Given the description of an element on the screen output the (x, y) to click on. 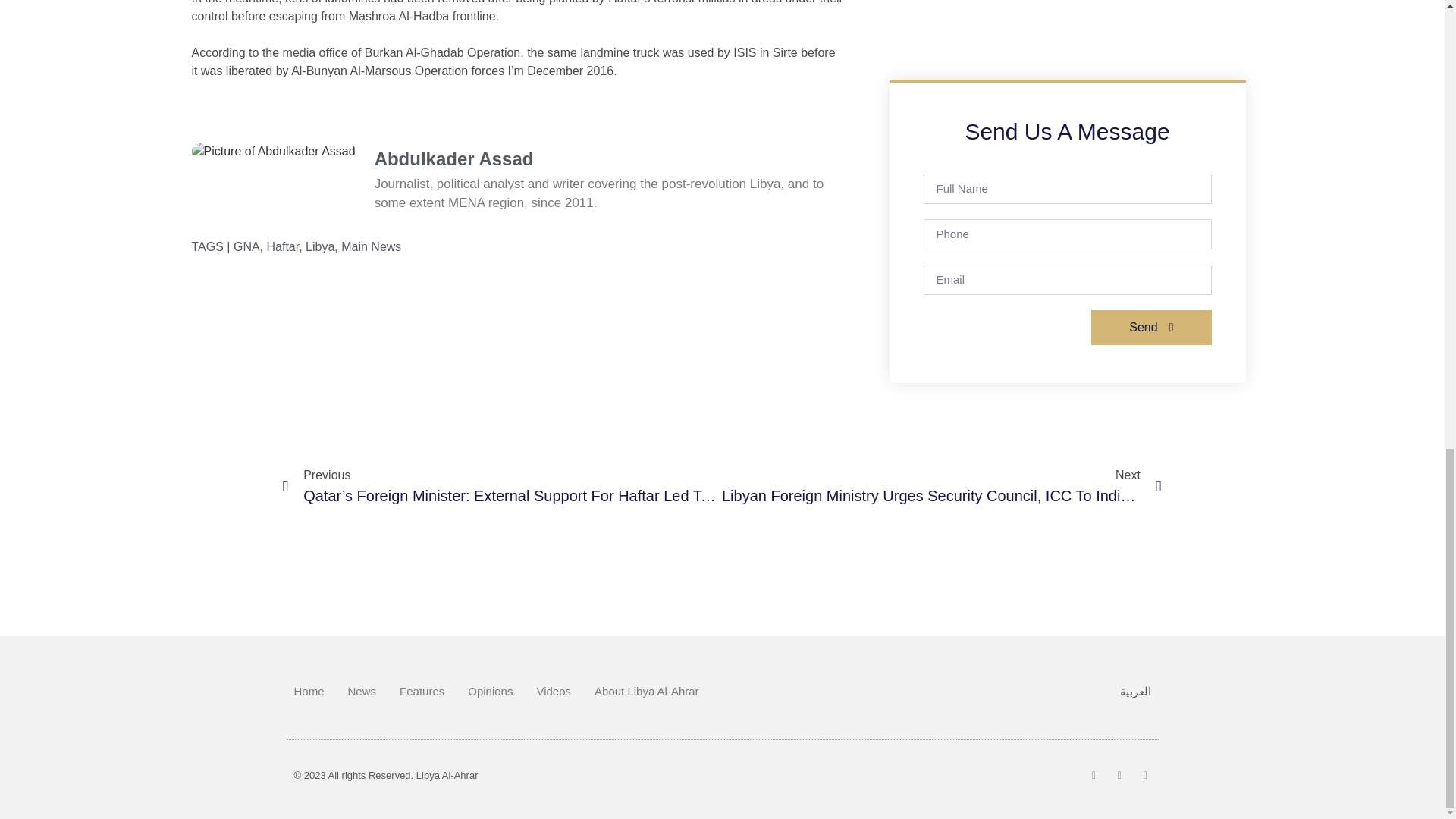
Opinions (489, 691)
Libya (319, 246)
GNA (246, 246)
Send (1150, 327)
Videos (552, 691)
Haftar (282, 246)
Main News (370, 246)
Features (421, 691)
